Given the description of an element on the screen output the (x, y) to click on. 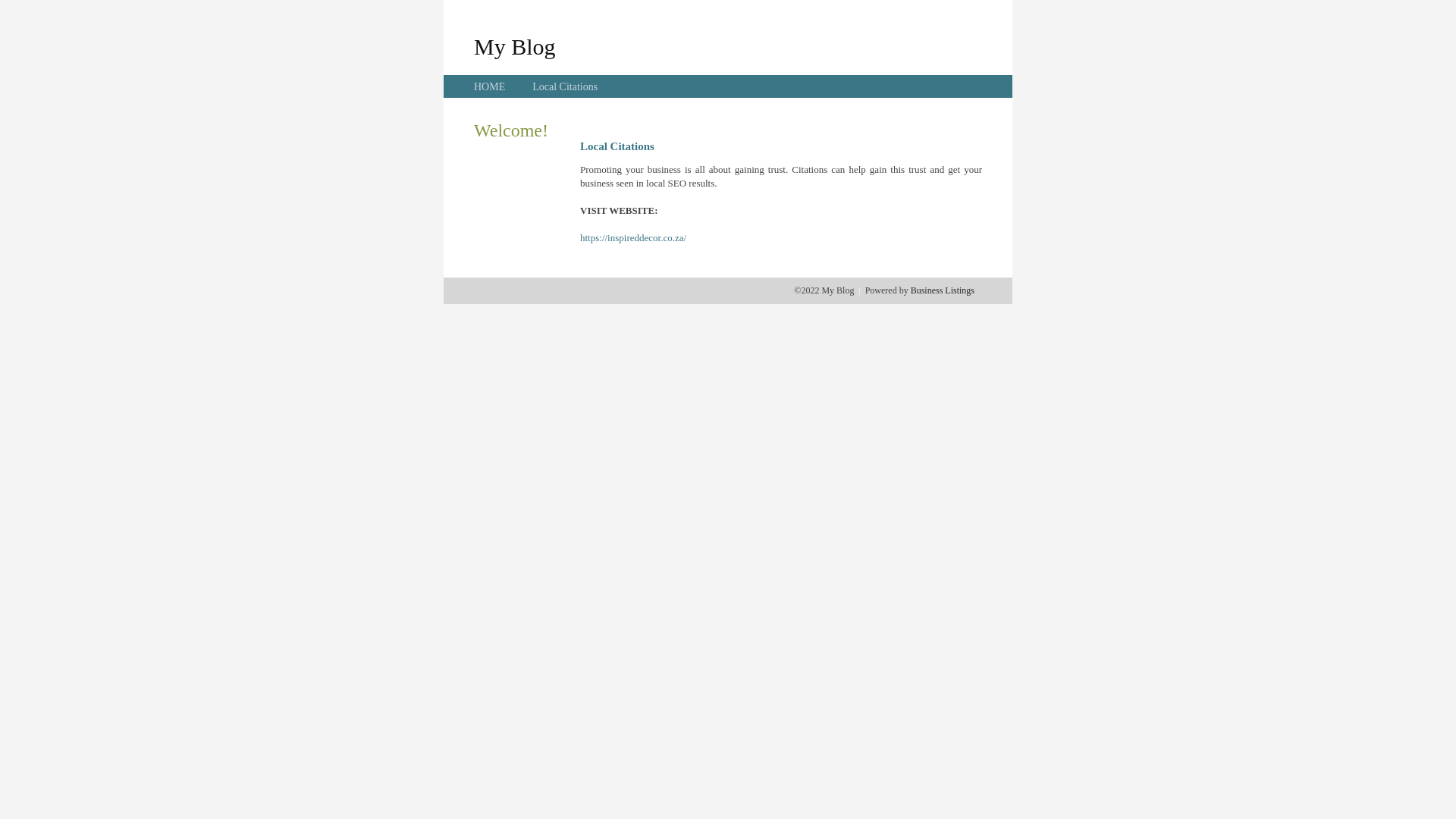
Business Listings Element type: text (942, 290)
My Blog Element type: text (514, 46)
Local Citations Element type: text (564, 86)
HOME Element type: text (489, 86)
https://inspireddecor.co.za/ Element type: text (633, 237)
